Given the description of an element on the screen output the (x, y) to click on. 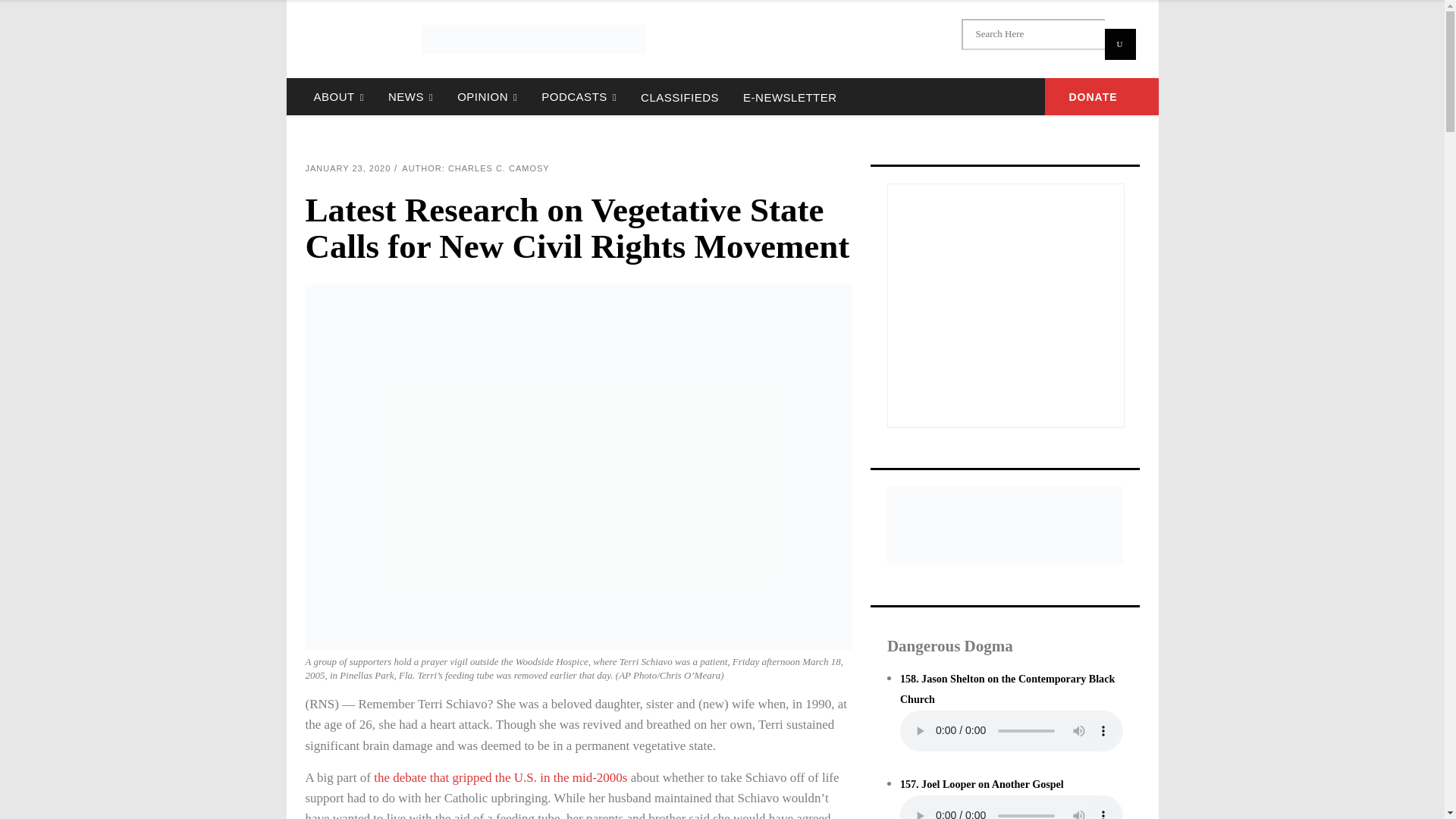
U (1119, 43)
OPINION (487, 96)
ABOUT (338, 96)
U (1119, 43)
U (1119, 43)
CLASSIFIEDS (679, 96)
E-NEWSLETTER (789, 96)
NEWS (410, 96)
DONATE (1101, 96)
PODCASTS (578, 96)
